Given the description of an element on the screen output the (x, y) to click on. 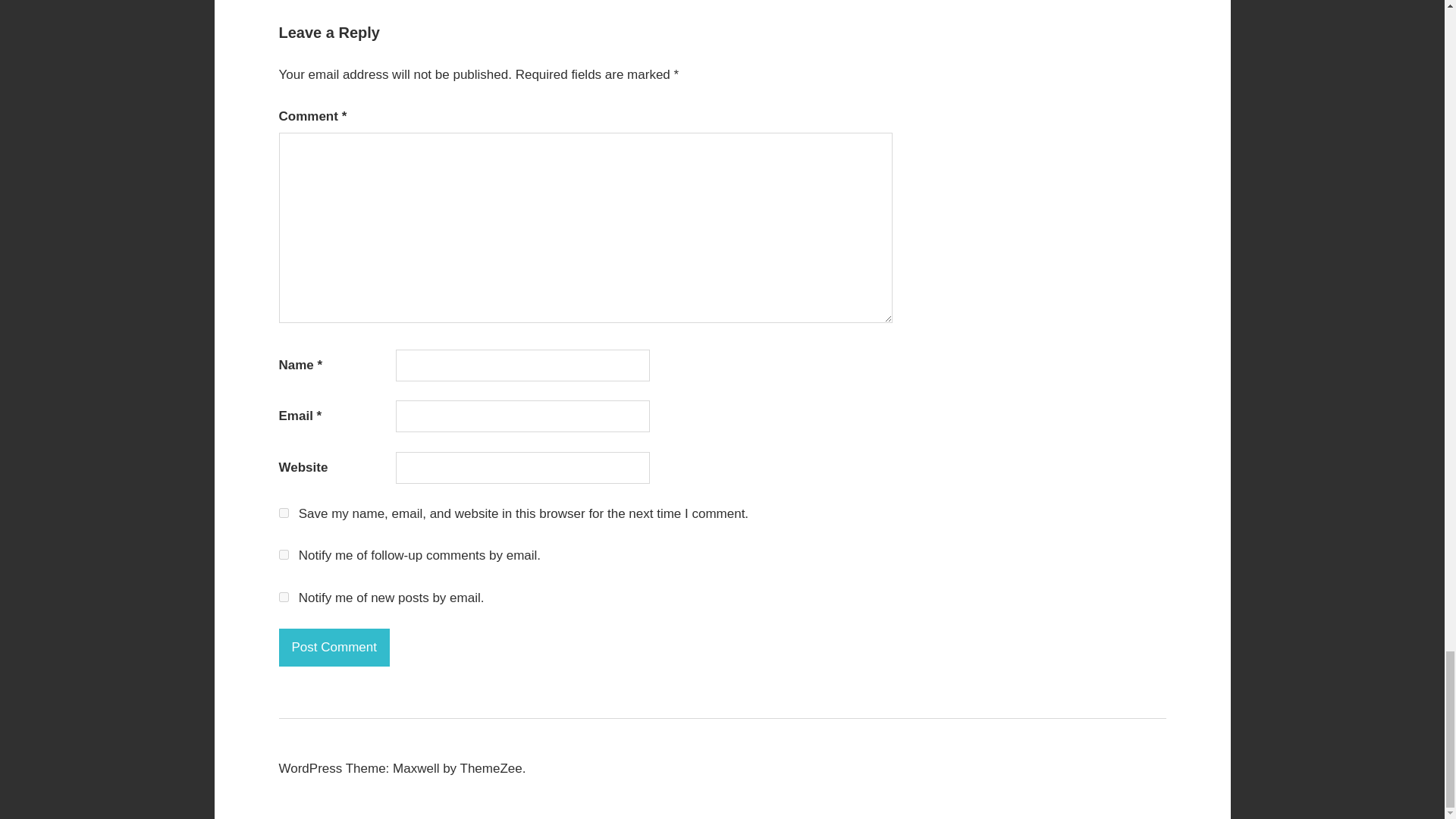
subscribe (283, 554)
subscribe (283, 596)
Post Comment (334, 647)
yes (283, 512)
